Given the description of an element on the screen output the (x, y) to click on. 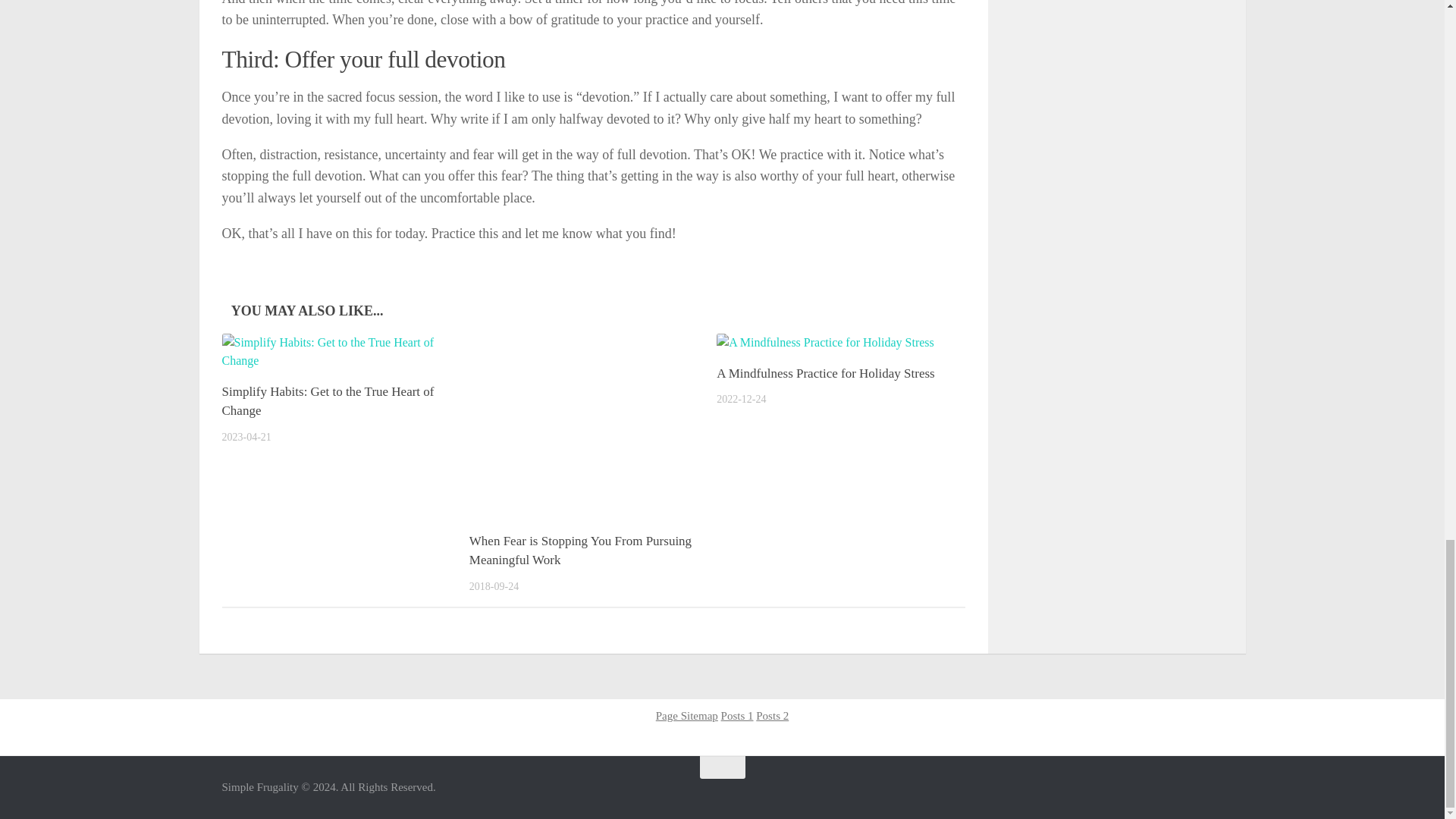
A Mindfulness Practice for Holiday Stress (825, 373)
When Fear is Stopping You From Pursuing Meaningful Work (579, 550)
Simplify Habits: Get to the True Heart of Change (327, 401)
